Given the description of an element on the screen output the (x, y) to click on. 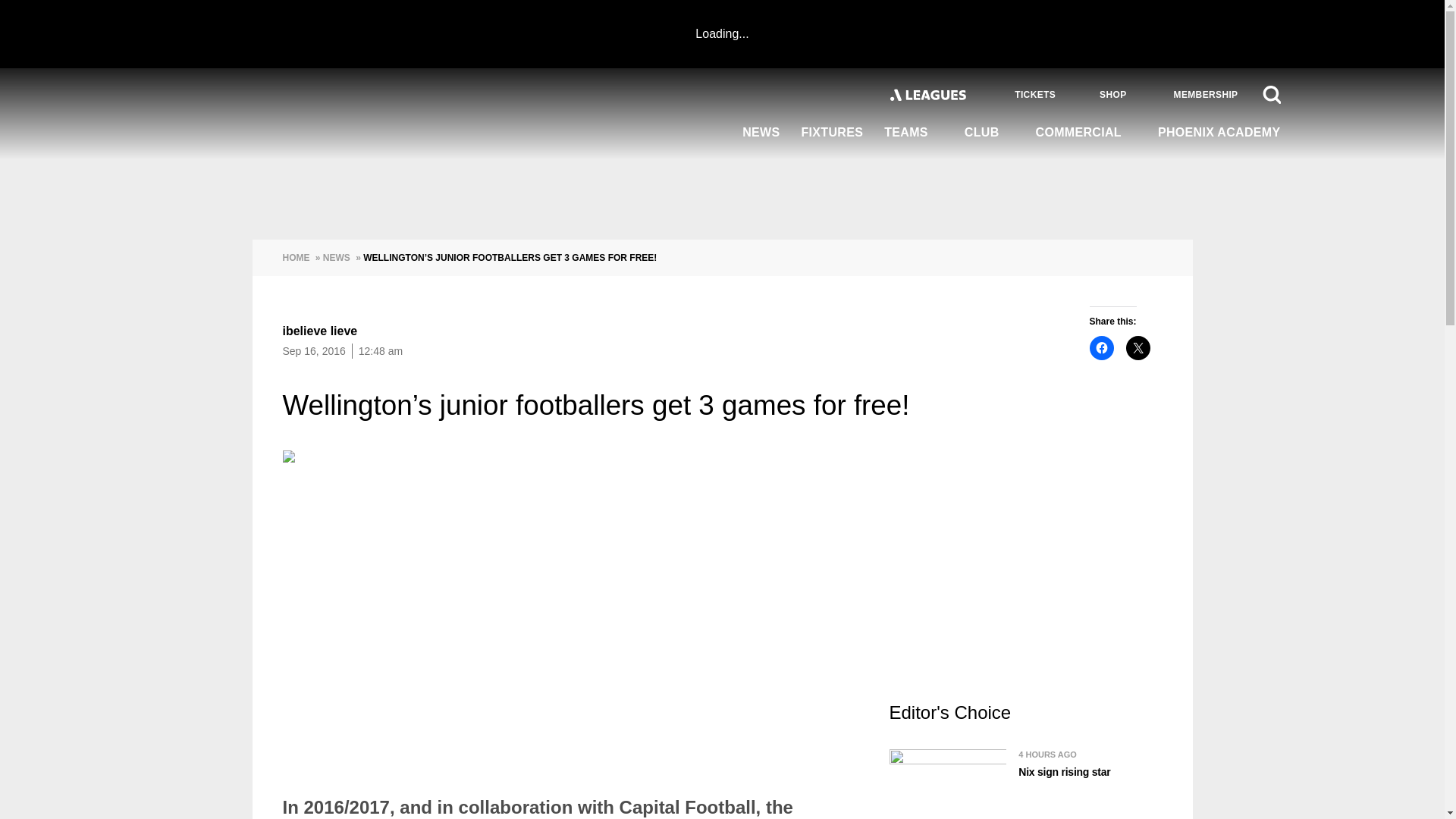
CLUB (989, 132)
Click to share on Facebook (1101, 347)
TEAMS (913, 132)
Click to share on X (1137, 347)
NEWS (761, 133)
FIXTURES (831, 133)
PHOENIX ACADEMY (1214, 133)
COMMERCIAL (1086, 132)
